Given the description of an element on the screen output the (x, y) to click on. 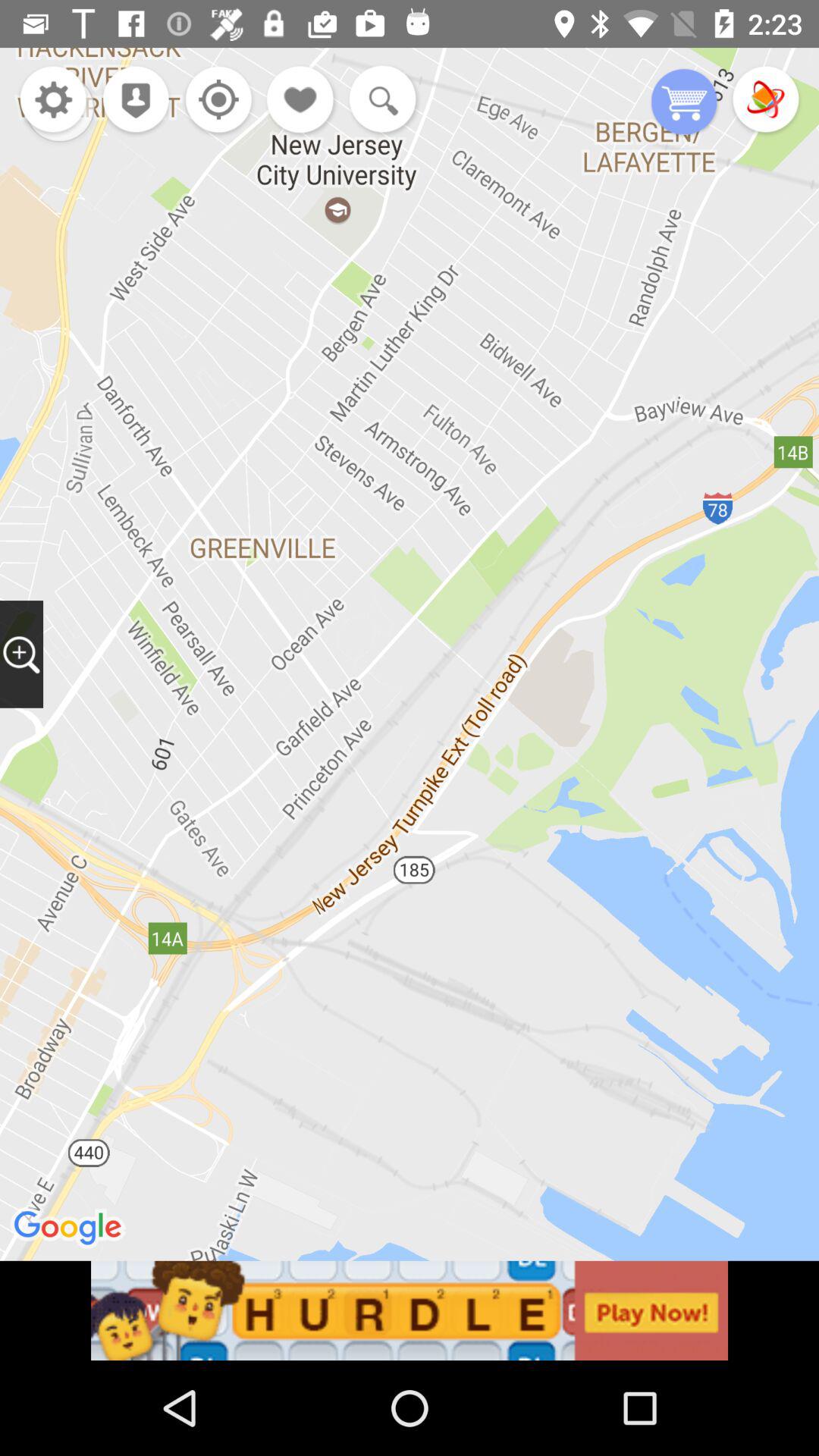
go zoom (379, 100)
